Given the description of an element on the screen output the (x, y) to click on. 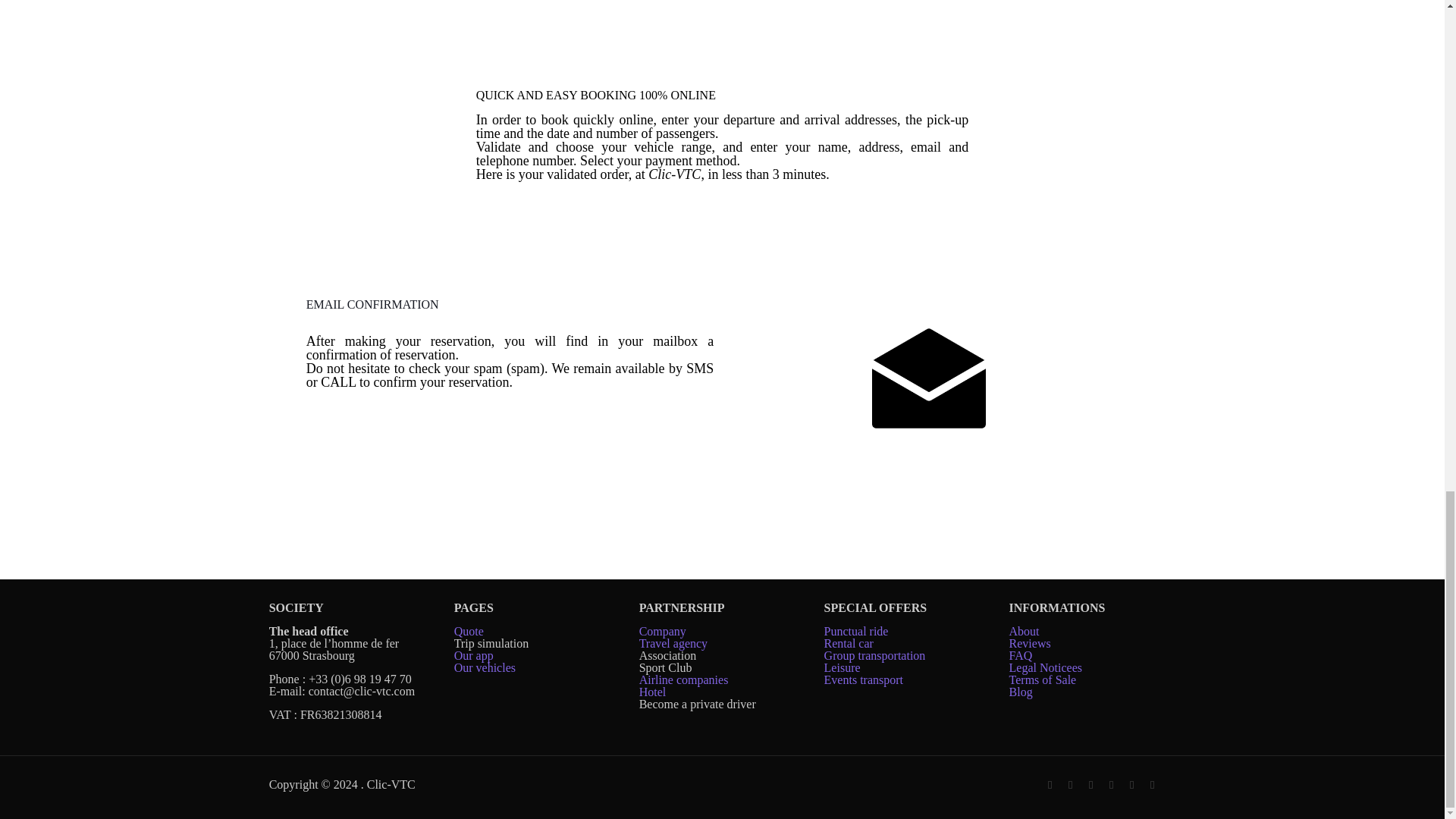
TripAdvisor (1152, 784)
Tumblr (1132, 784)
Quote (468, 631)
Hotel (652, 691)
Company (662, 631)
Group transportation (875, 655)
Facebook (1050, 784)
Instagram (1111, 784)
YouTube (1091, 784)
Leisure (842, 667)
Twitter (1070, 784)
Events transport  (864, 679)
Travel agency (673, 643)
Our app (473, 655)
Punctual ride (856, 631)
